Given the description of an element on the screen output the (x, y) to click on. 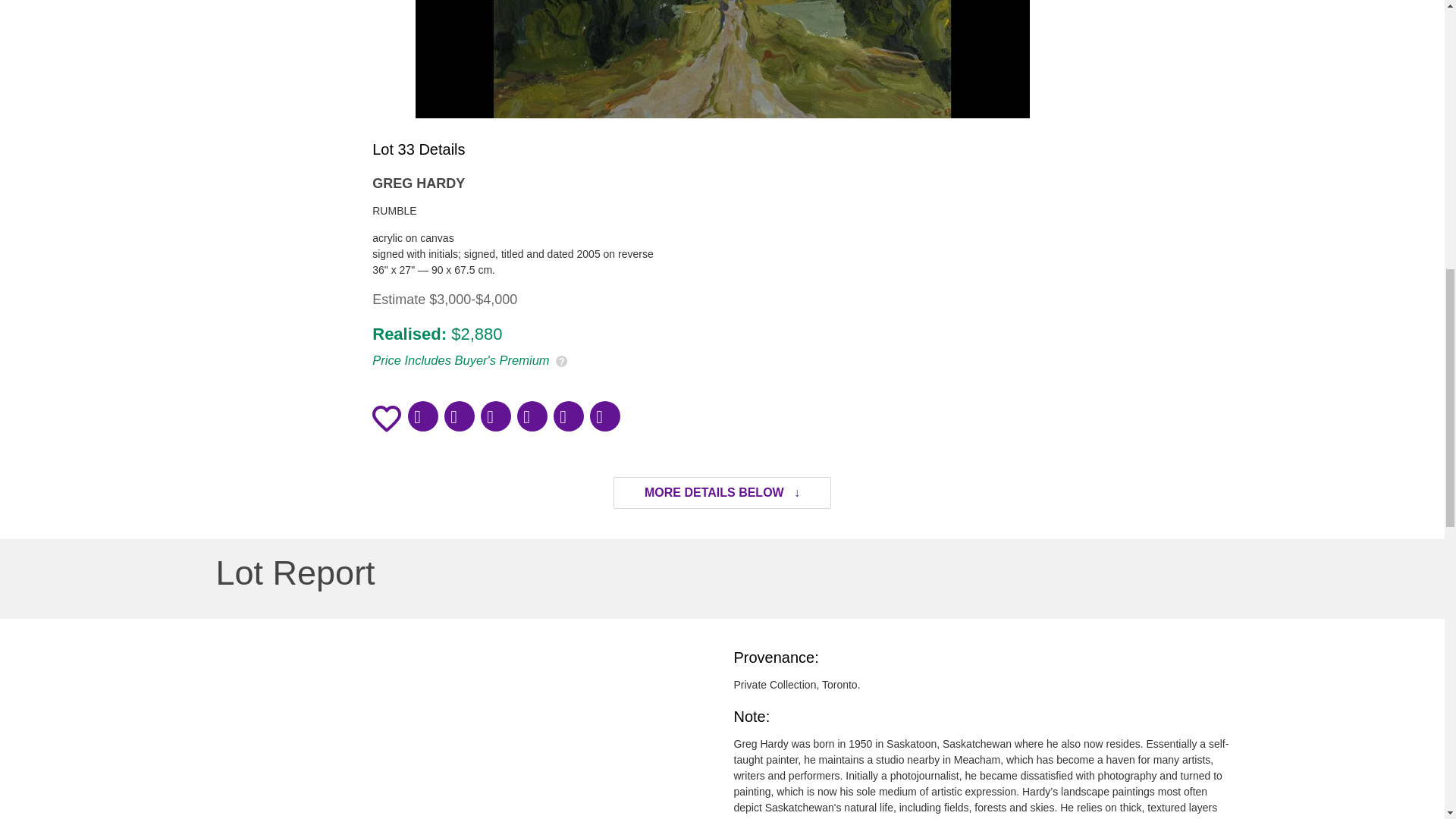
Email This (568, 416)
Copy Link (604, 416)
Sina Weibo (531, 416)
Facebook (422, 416)
WeChat (495, 416)
